Given the description of an element on the screen output the (x, y) to click on. 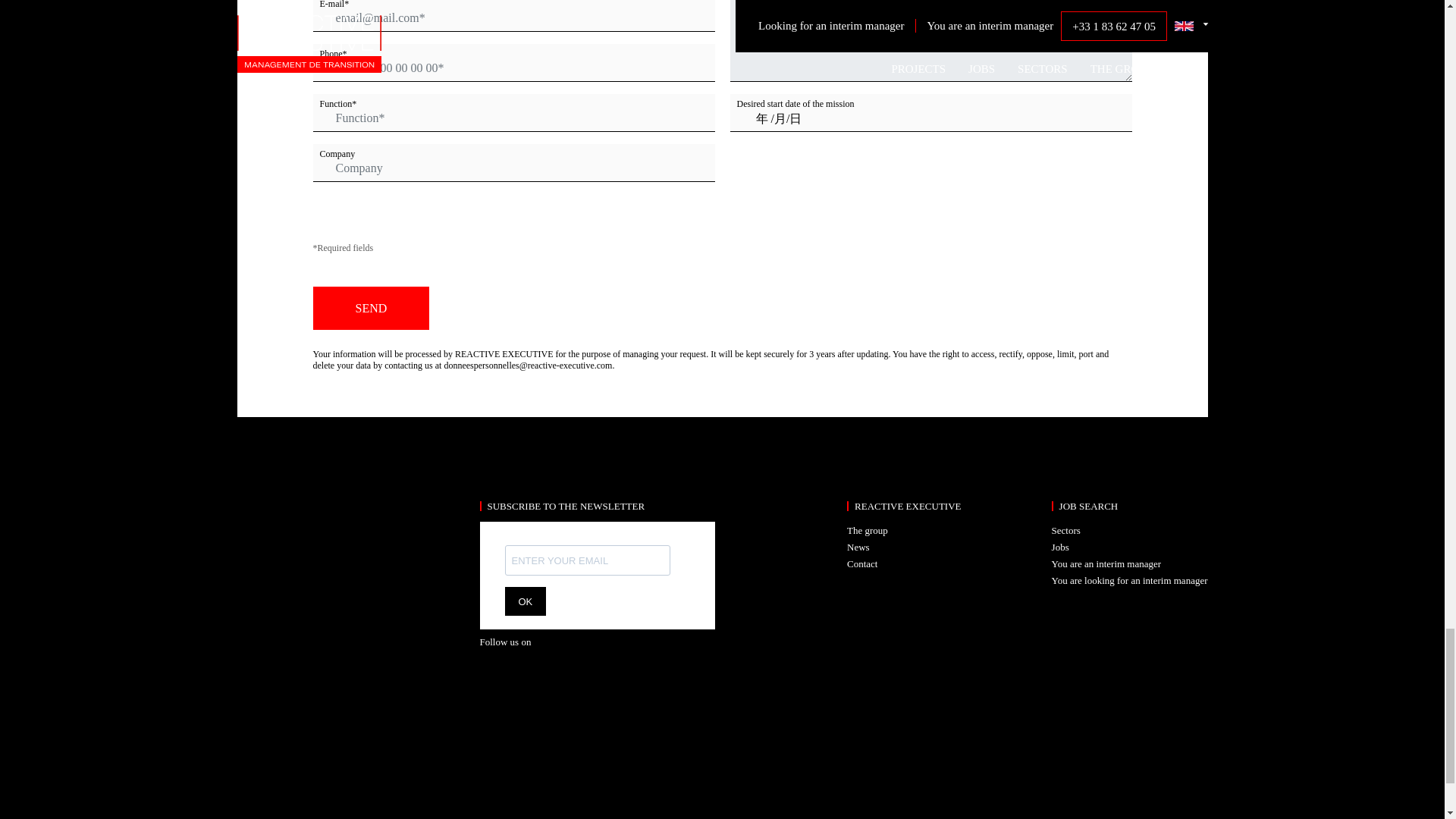
Send (371, 308)
